Given the description of an element on the screen output the (x, y) to click on. 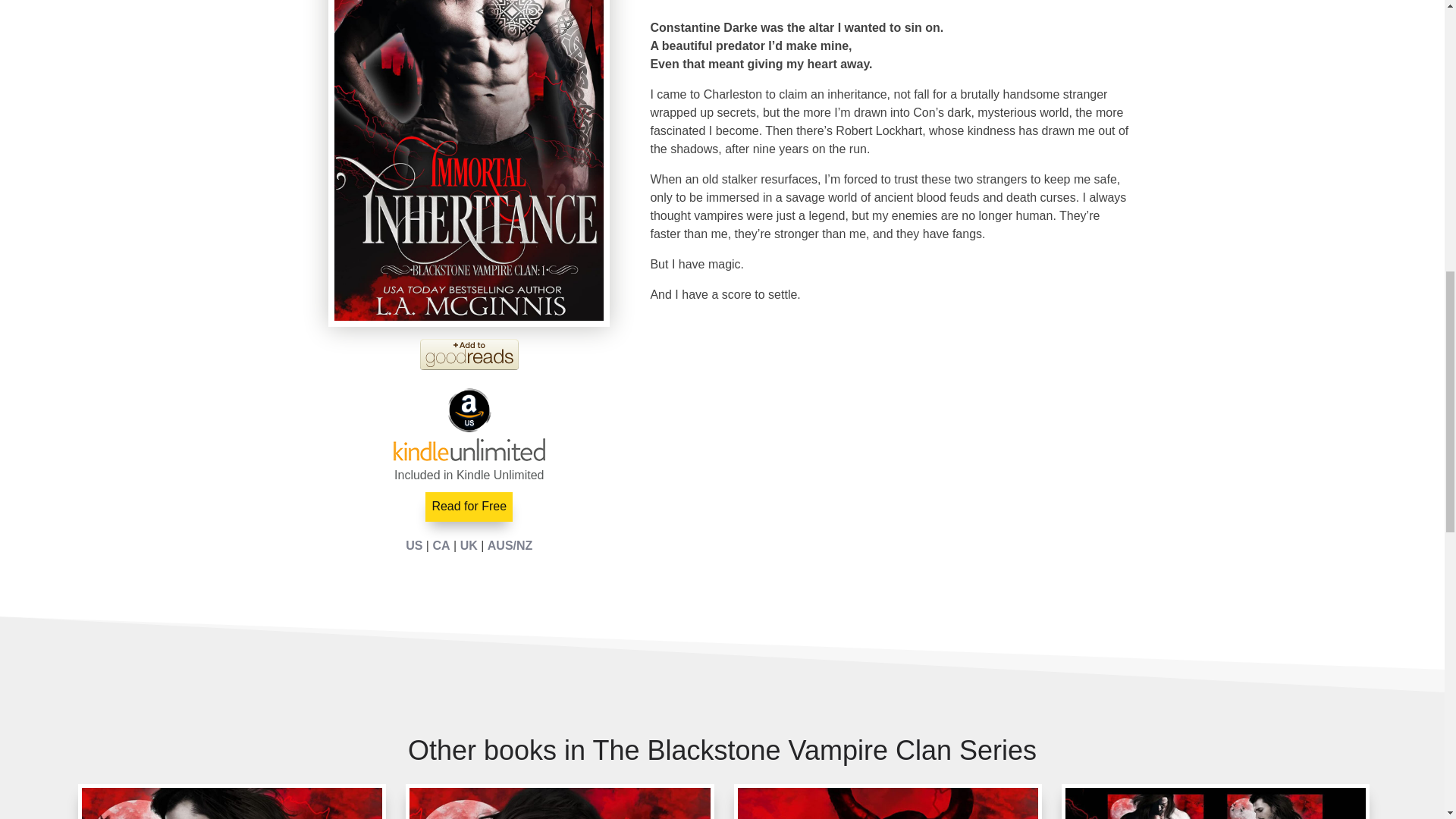
Blackstone Vampire Clan Boxset (1215, 801)
Immortal Secrets (887, 801)
Immortal Betrayal (231, 801)
Immortal Vendetta (559, 801)
